Given the description of an element on the screen output the (x, y) to click on. 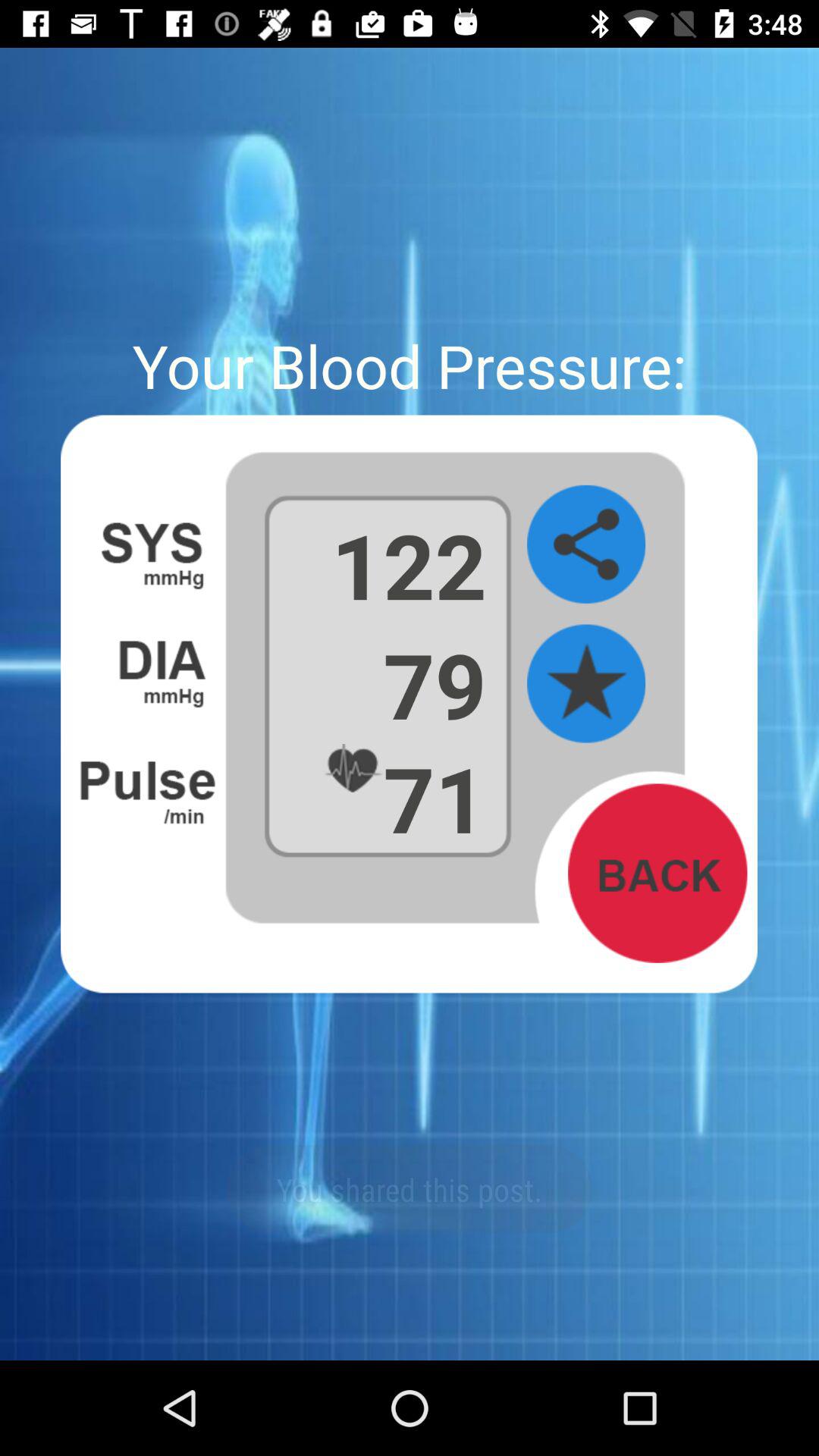
go to favorites (586, 683)
